Given the description of an element on the screen output the (x, y) to click on. 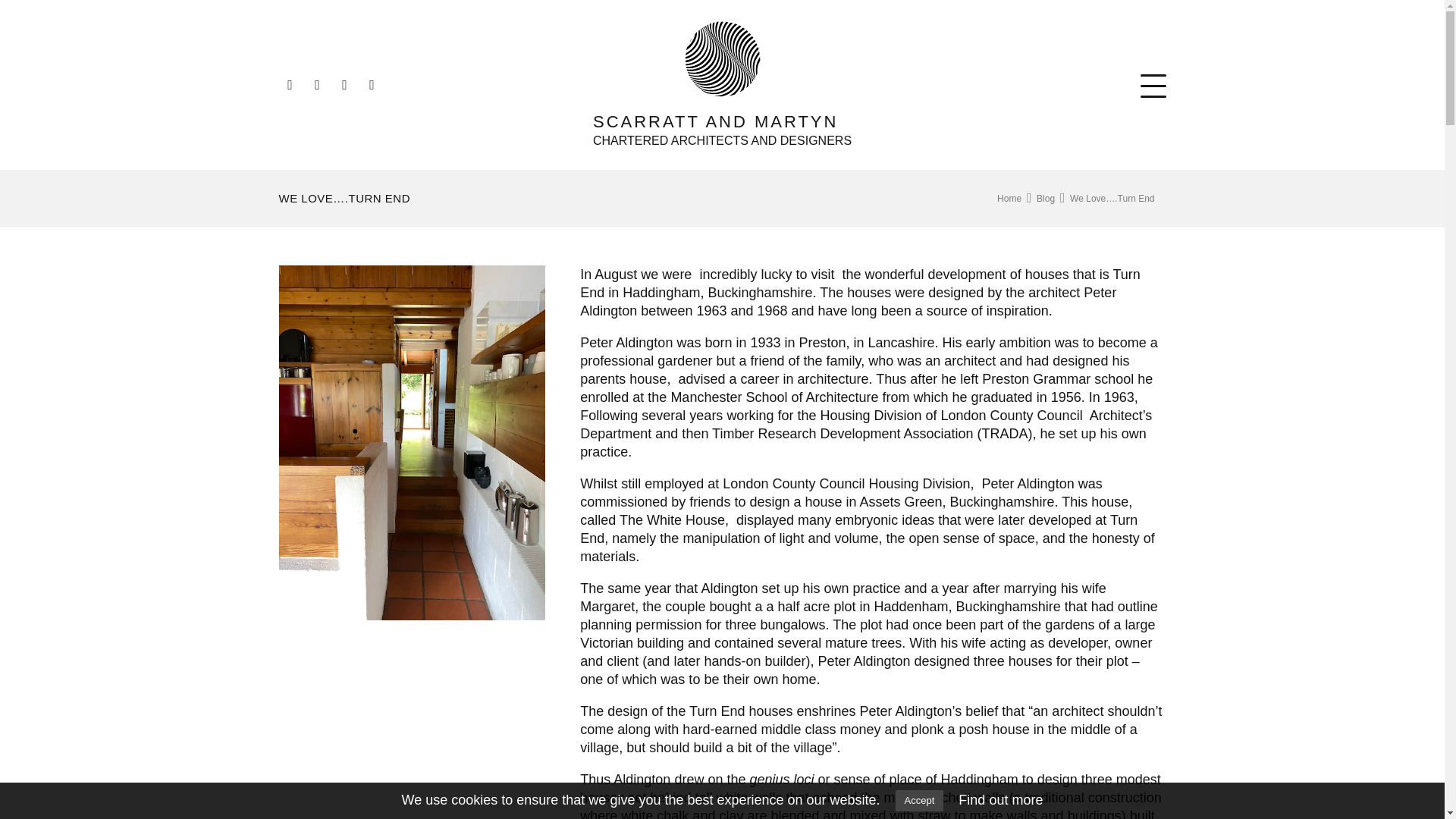
Home (721, 84)
Find out more (1009, 198)
Blog (1000, 799)
Accept (1045, 198)
